Given the description of an element on the screen output the (x, y) to click on. 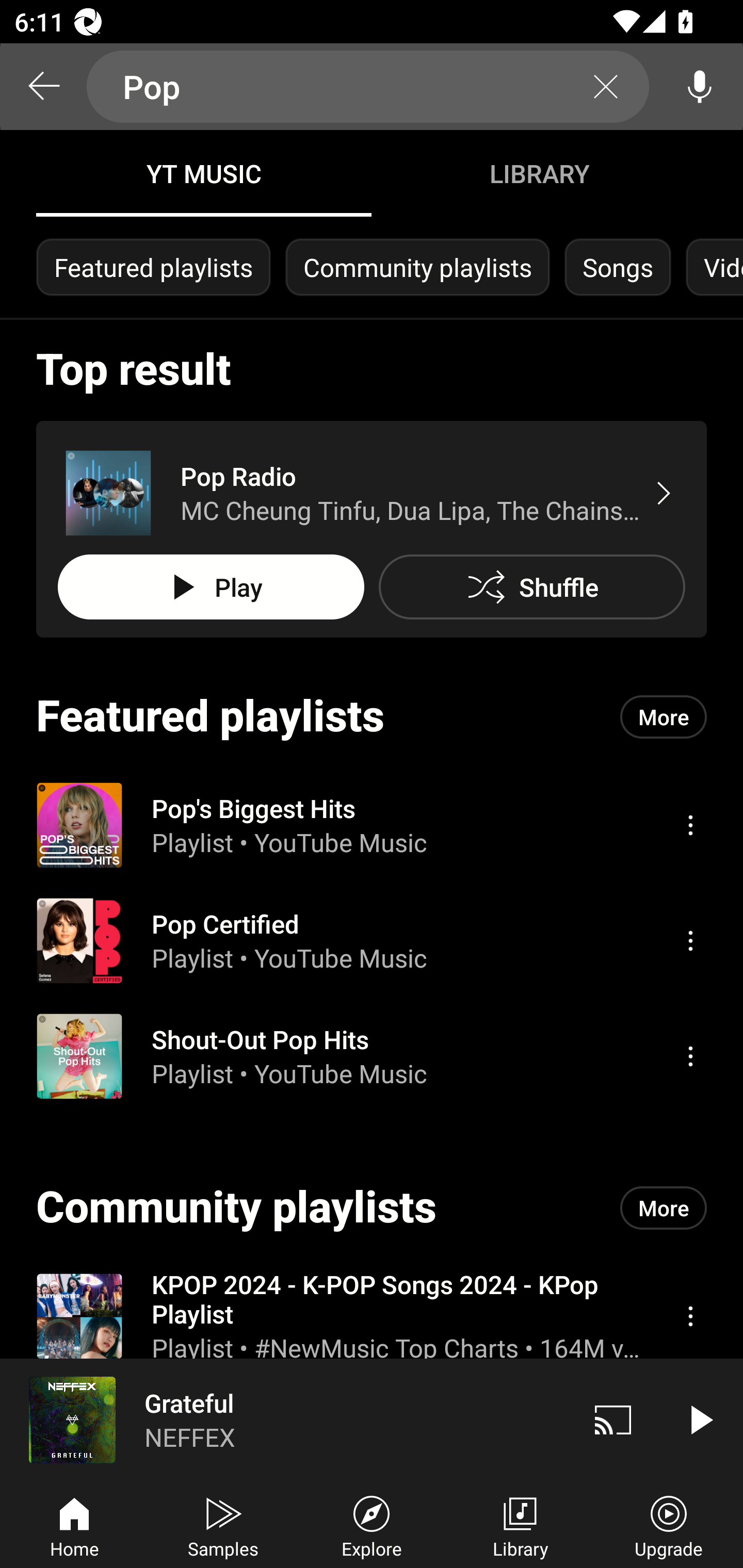
Search back (43, 86)
Pop (367, 86)
Clear search (605, 86)
Voice search (699, 86)
Library LIBRARY (538, 173)
Play PLAY ALL (210, 587)
Shuffle (531, 587)
Featured playlists More More (371, 716)
More (663, 716)
Menu (690, 824)
Menu (690, 940)
Menu (690, 1056)
Community playlists More More (371, 1208)
More (663, 1207)
Menu (690, 1315)
Grateful NEFFEX (284, 1419)
Cast. Disconnected (612, 1419)
Play video (699, 1419)
Home (74, 1524)
Samples (222, 1524)
Explore (371, 1524)
Library (519, 1524)
Upgrade (668, 1524)
